Given the description of an element on the screen output the (x, y) to click on. 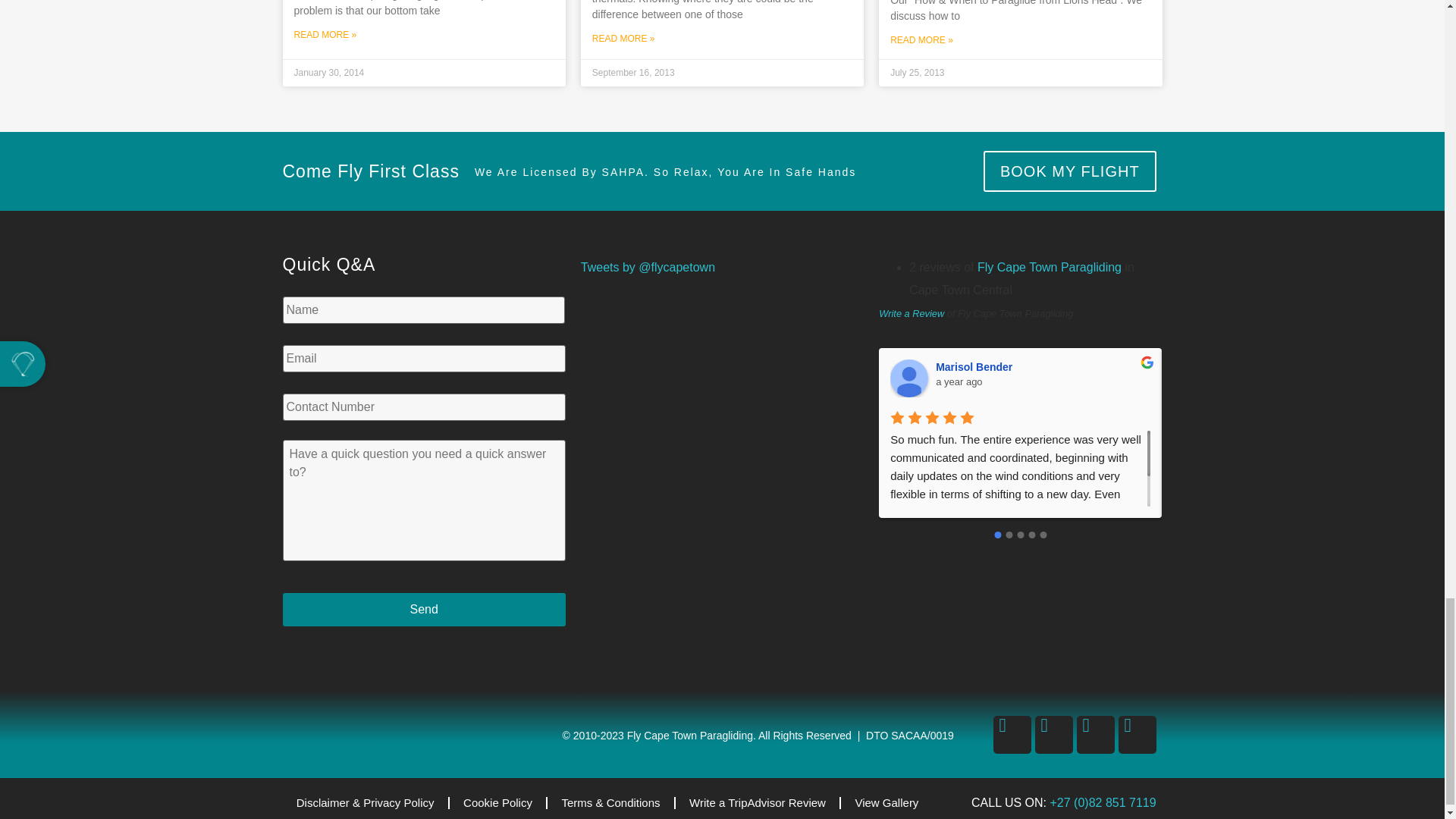
Marisol Bender (908, 378)
Kyle Bonello (1192, 378)
Send (423, 609)
